Given the description of an element on the screen output the (x, y) to click on. 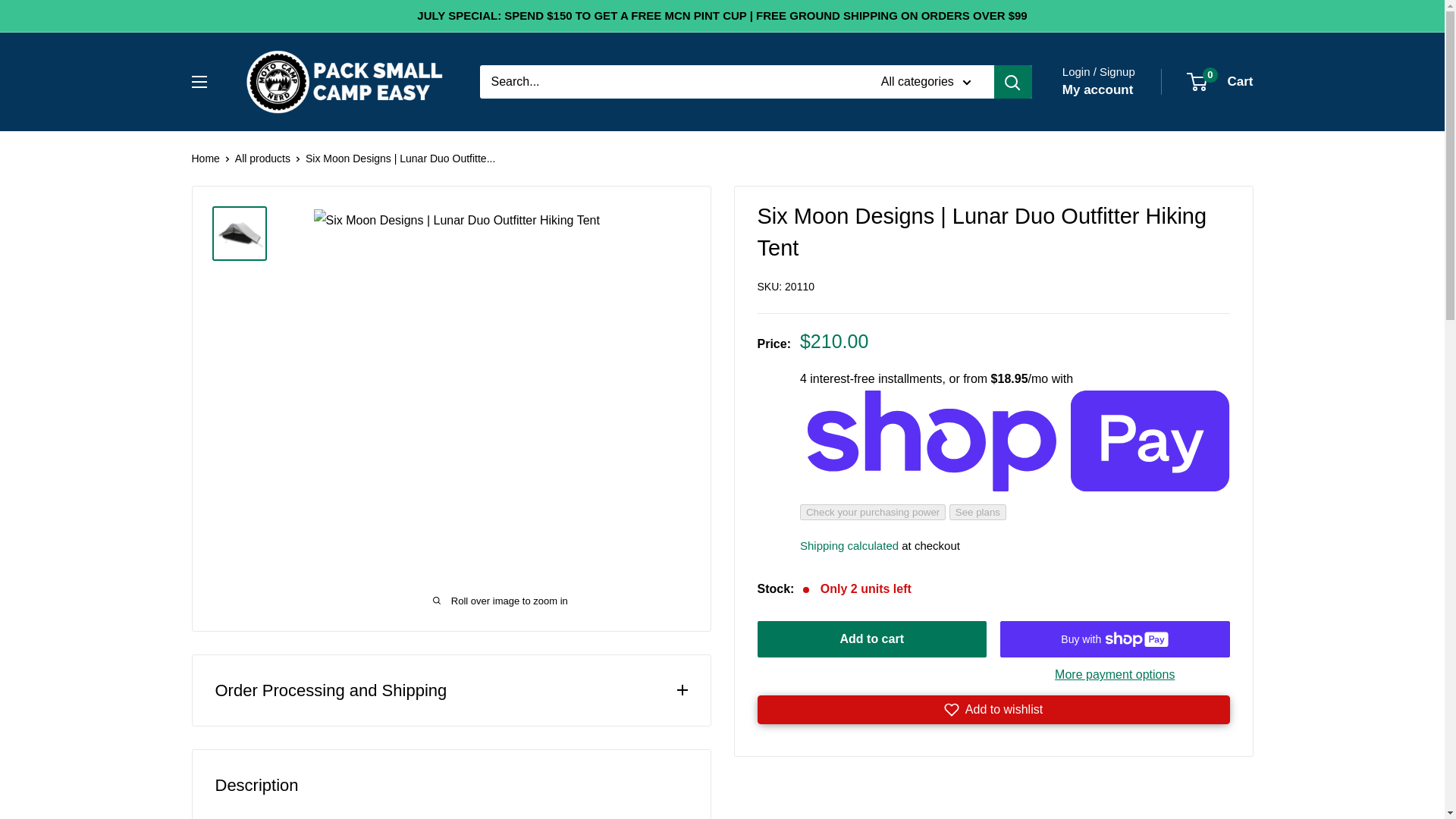
Add to wishlist (992, 709)
